Given the description of an element on the screen output the (x, y) to click on. 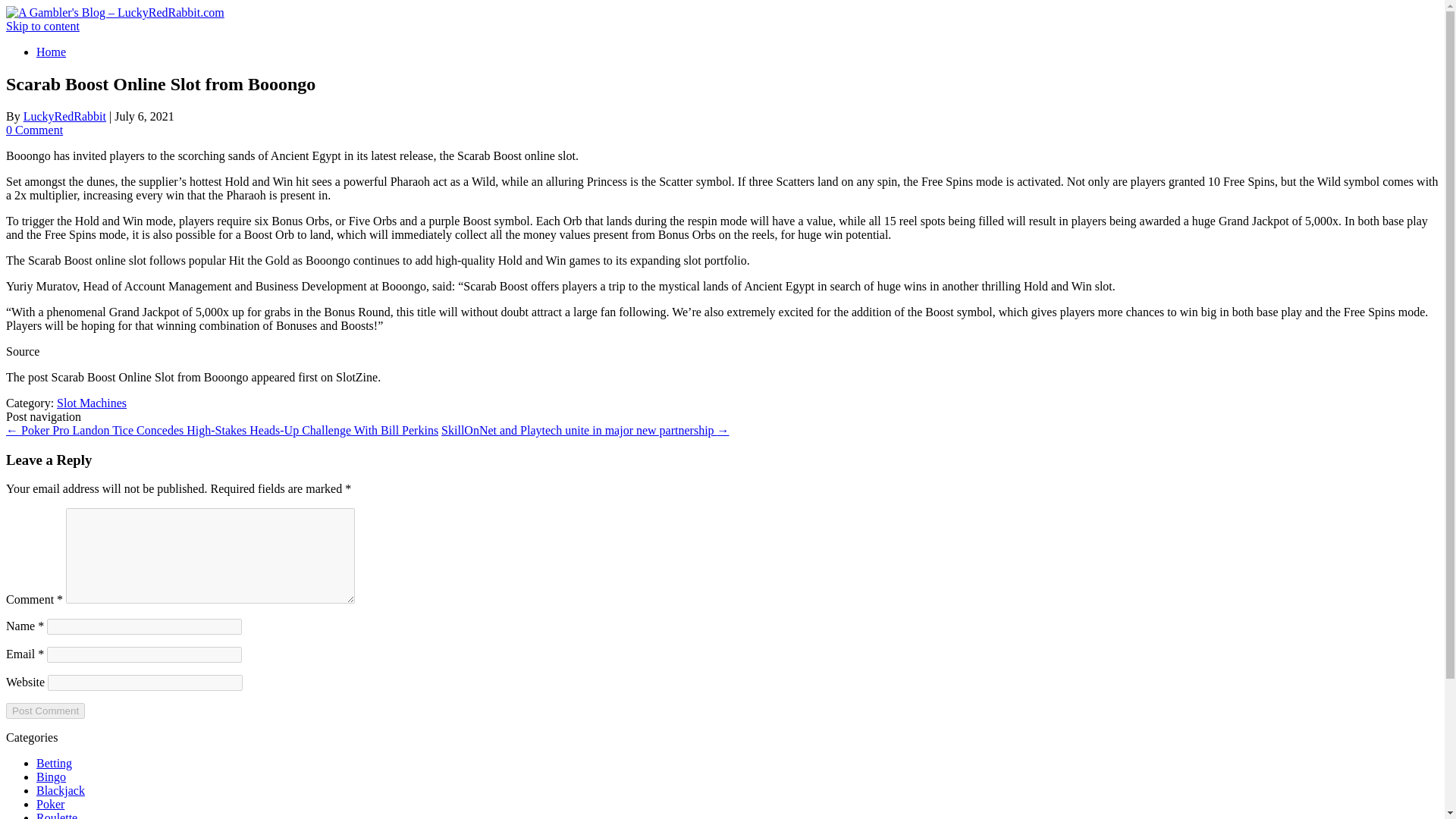
Post Comment (44, 710)
Post Comment (44, 710)
Betting (53, 762)
Blackjack (60, 789)
Poker (50, 803)
LuckyRedRabbit (64, 115)
0 Comment (33, 129)
Home (50, 51)
Skip to content (42, 25)
Posts by LuckyRedRabbit (64, 115)
